Given the description of an element on the screen output the (x, y) to click on. 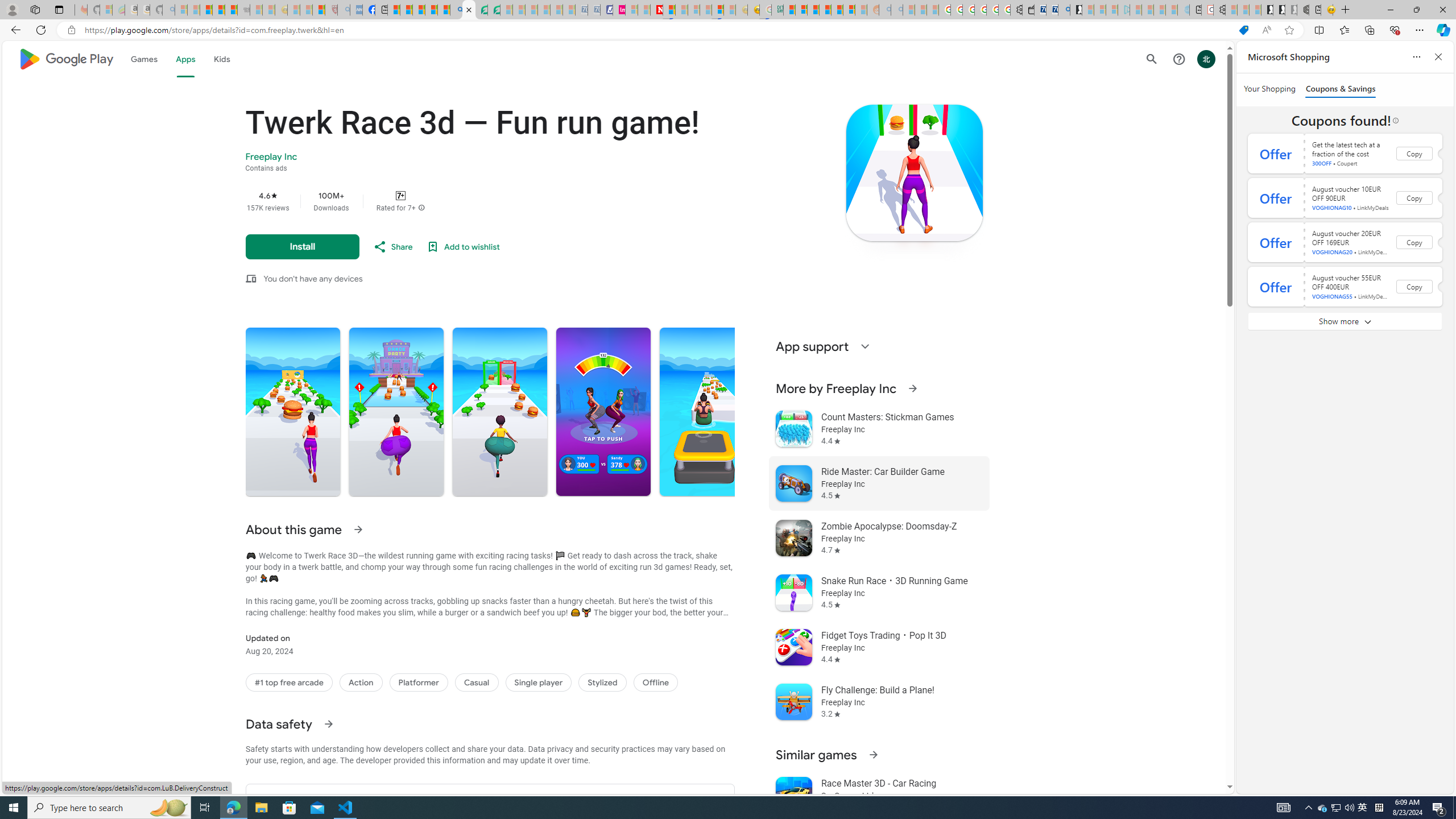
New Report Confirms 2023 Was Record Hot | Watch (230, 9)
